Given the description of an element on the screen output the (x, y) to click on. 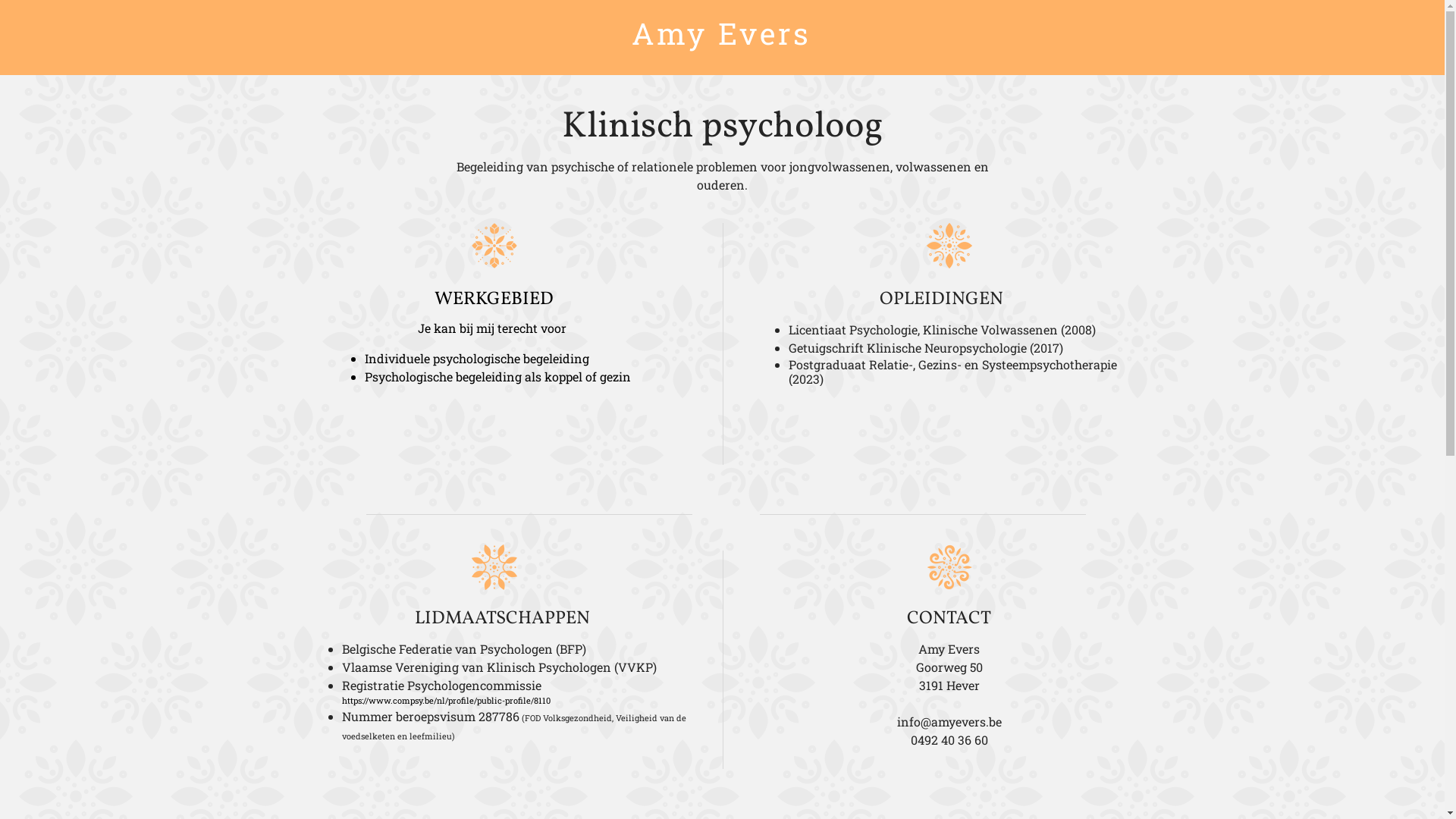
WERKGEBIED Element type: text (492, 299)
https://www.compsy.be/nl/profile/public-profile/8110 Element type: text (446, 700)
